Given the description of an element on the screen output the (x, y) to click on. 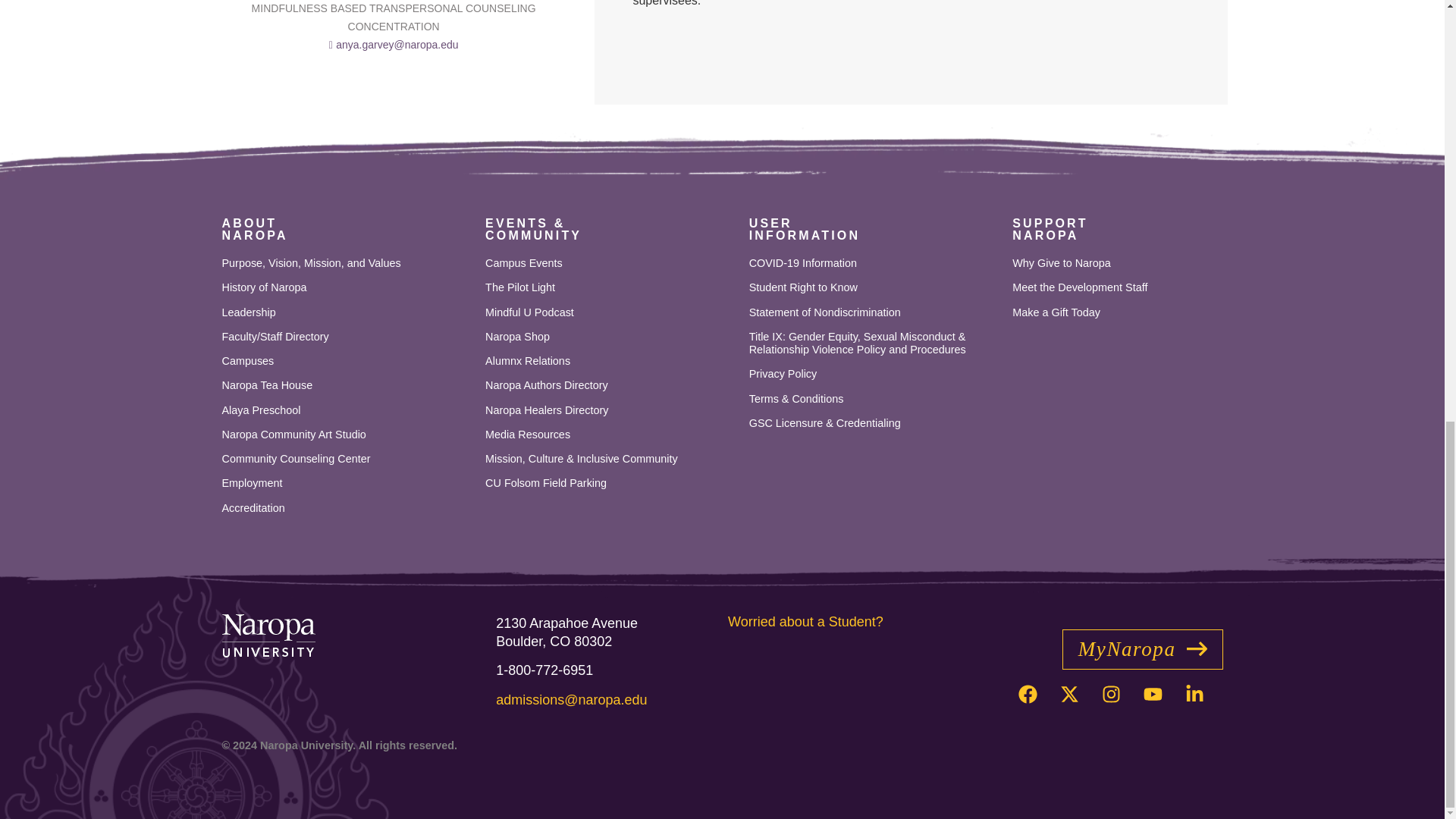
Media Resources (609, 434)
Campus Events (609, 263)
Employment (346, 482)
Campuses (346, 360)
Accreditation (346, 508)
Alaya Preschool (253, 229)
Community Counseling Center (346, 410)
Naropa Authors Directory (346, 459)
Naropa Healers Directory (609, 385)
Mindful U Podcast (609, 410)
Naropa Community Art Studio (609, 312)
Naropa Tea House (346, 434)
The Pilot Light (346, 385)
Purpose, Vision, Mission, and Values (609, 287)
